Given the description of an element on the screen output the (x, y) to click on. 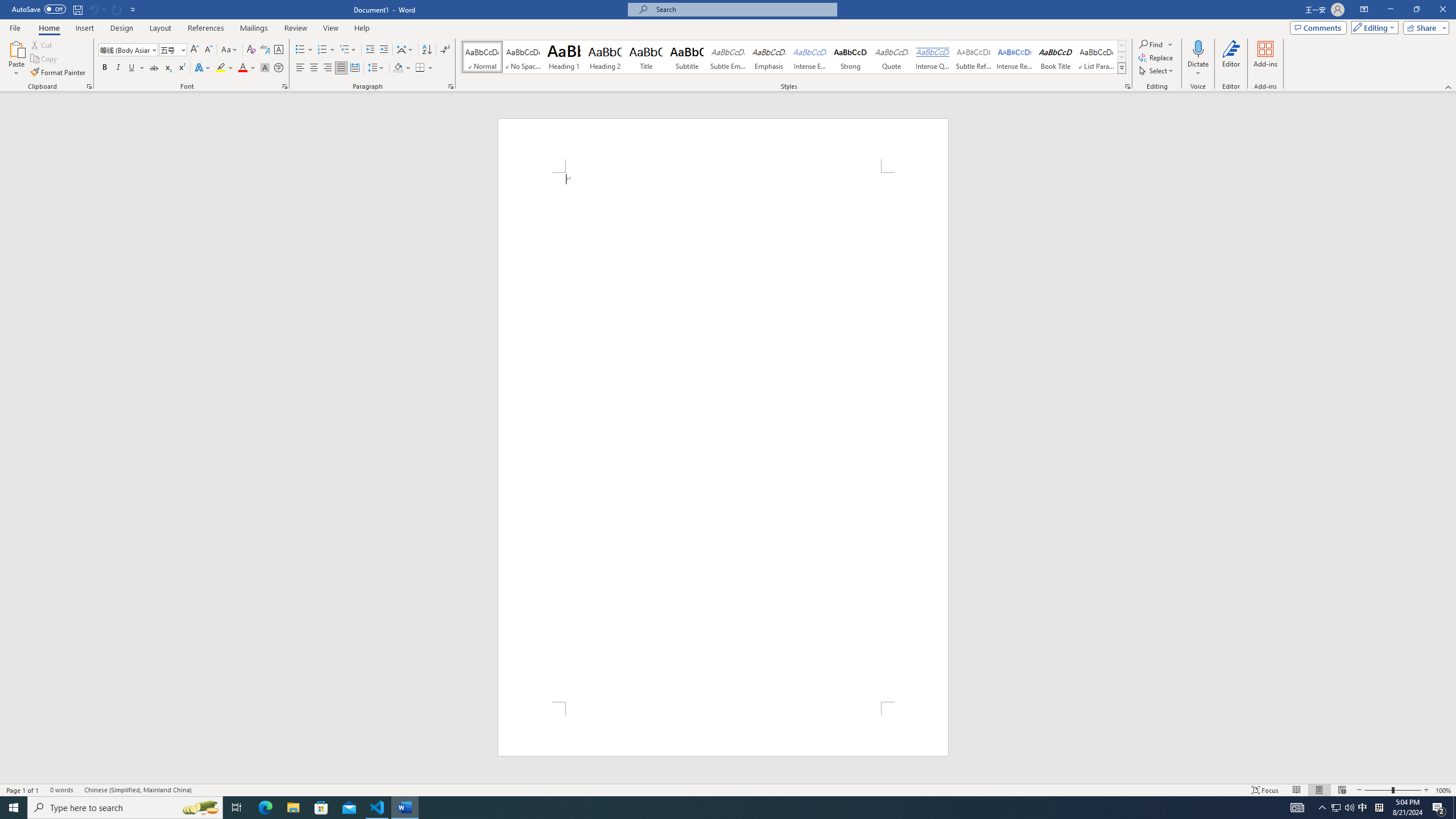
Subtle Reference (973, 56)
Page Number Page 1 of 1 (22, 790)
Intense Emphasis (809, 56)
